Given the description of an element on the screen output the (x, y) to click on. 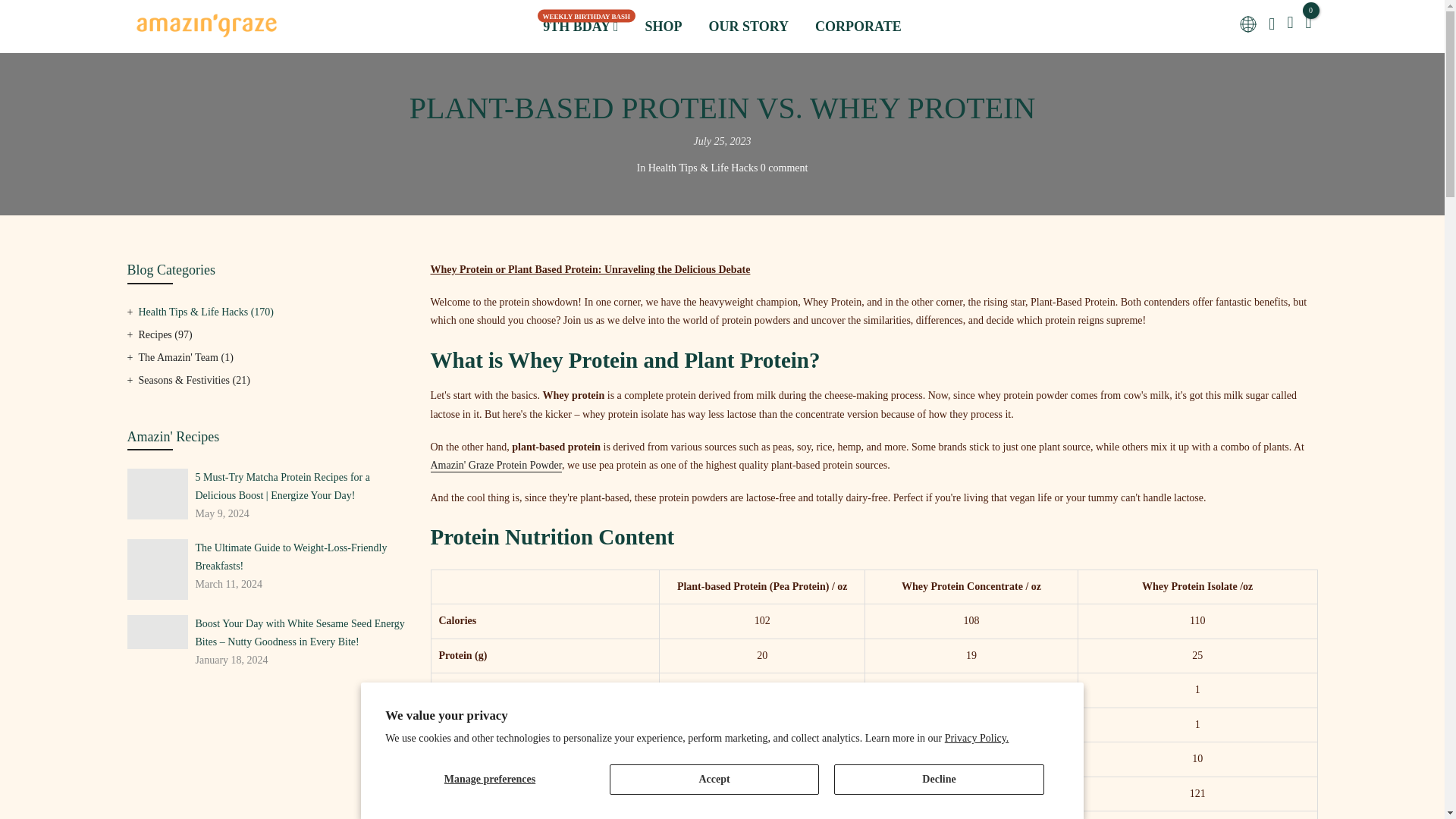
0 comment (784, 167)
Amazin' Graze Protein Powder (496, 465)
SHOP (663, 26)
OUR STORY (748, 26)
Decline (938, 779)
Accept (714, 779)
Manage preferences (489, 779)
The Ultimate Guide to Weight-Loss-Friendly Breakfasts! (301, 556)
Privacy Policy. (976, 737)
CORPORATE (858, 26)
